Given the description of an element on the screen output the (x, y) to click on. 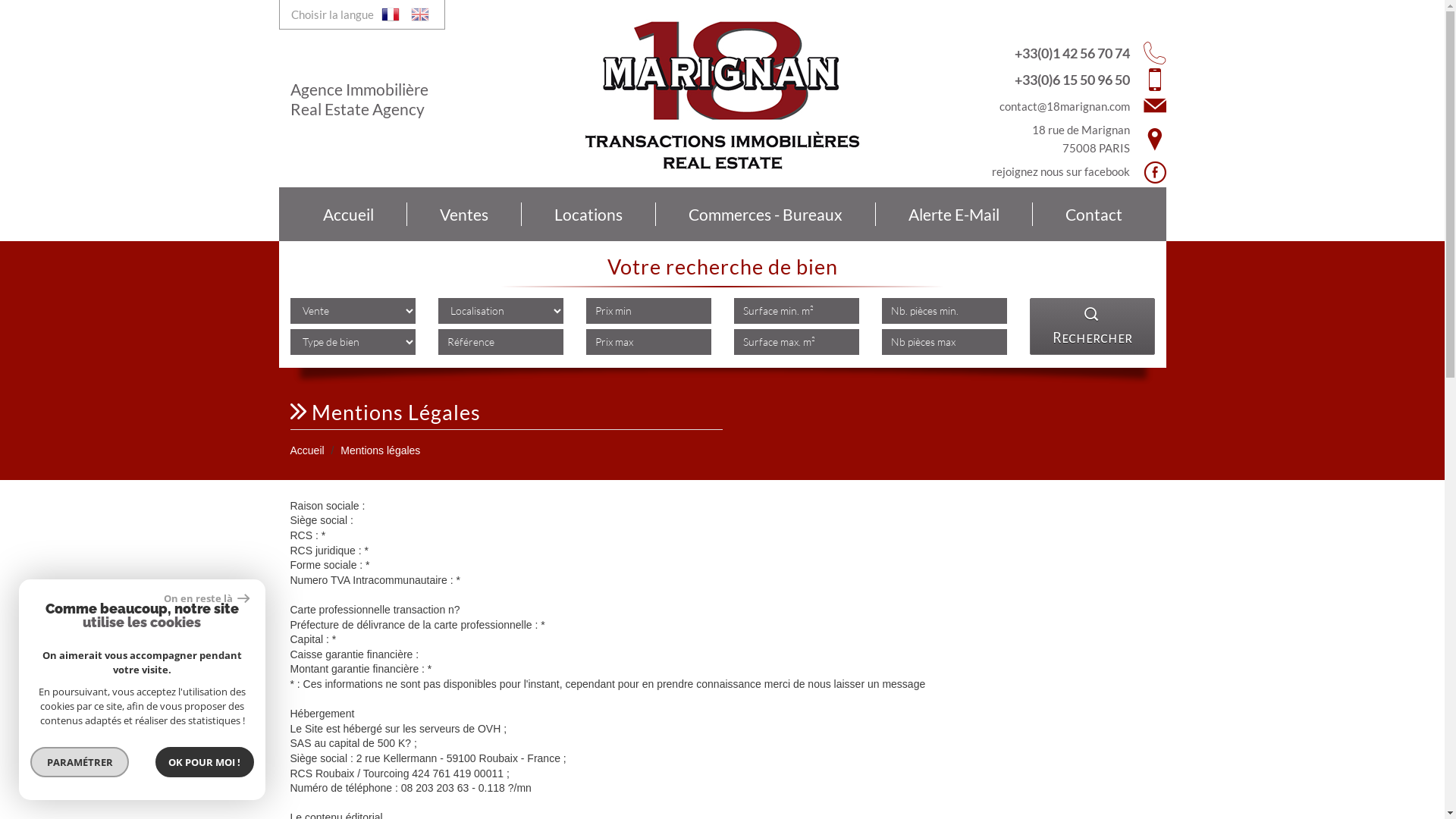
Alerte E-Mail Element type: text (953, 214)
  Element type: text (420, 14)
Commerces - Bureaux Element type: text (765, 214)
18 rue de Marignan
75008 PARIS Element type: text (1055, 138)
Locations Element type: text (588, 214)
Accueil Element type: text (306, 450)
Accueil Element type: text (347, 214)
Rechercher Element type: text (1091, 326)
contact@18marignan.com Element type: text (1064, 105)
OK POUR MOI ! Element type: text (204, 761)
rejoignez nous sur facebook Element type: text (1055, 171)
Contact Element type: text (1093, 214)
Ventes Element type: text (463, 214)
